Given the description of an element on the screen output the (x, y) to click on. 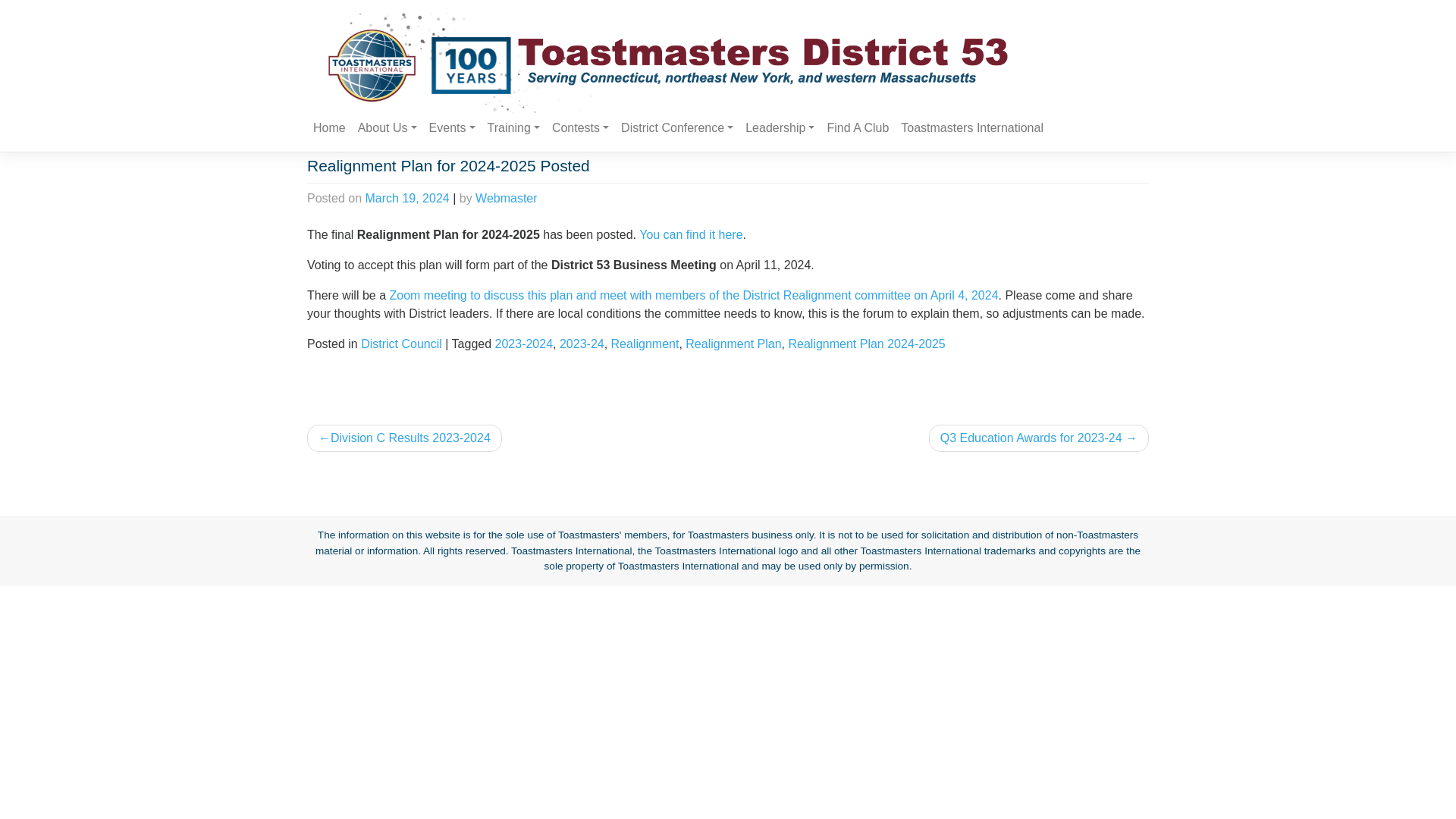
March 19, 2024 (407, 197)
Leadership (780, 128)
District Council (401, 343)
Webmaster (506, 197)
Events (452, 128)
Home (329, 128)
You can find it here (690, 234)
Find A Club (858, 128)
District Conference (676, 128)
